Given the description of an element on the screen output the (x, y) to click on. 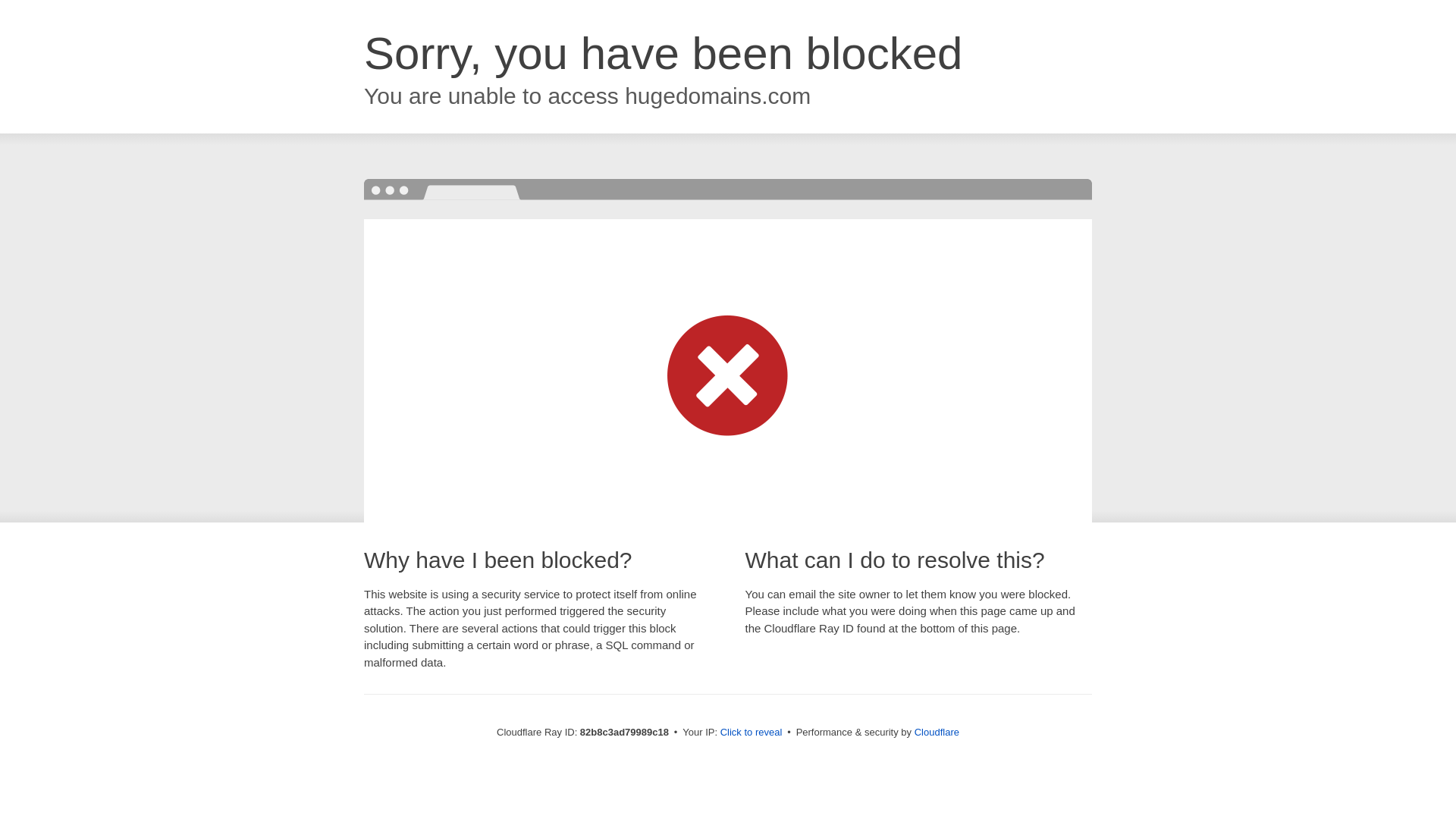
Click to reveal Element type: text (751, 732)
Cloudflare Element type: text (936, 731)
